Given the description of an element on the screen output the (x, y) to click on. 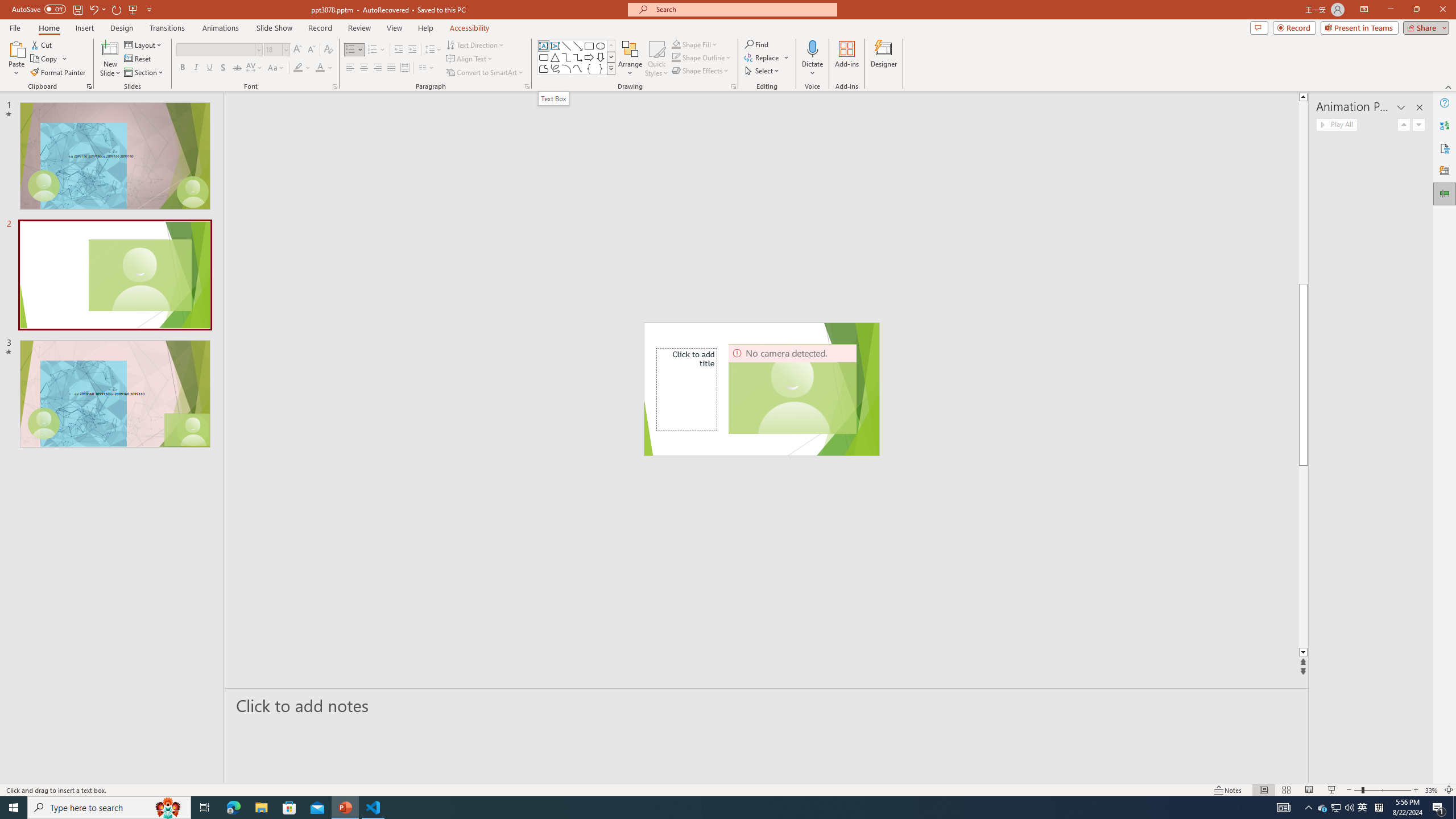
Move Down (1418, 124)
